Given the description of an element on the screen output the (x, y) to click on. 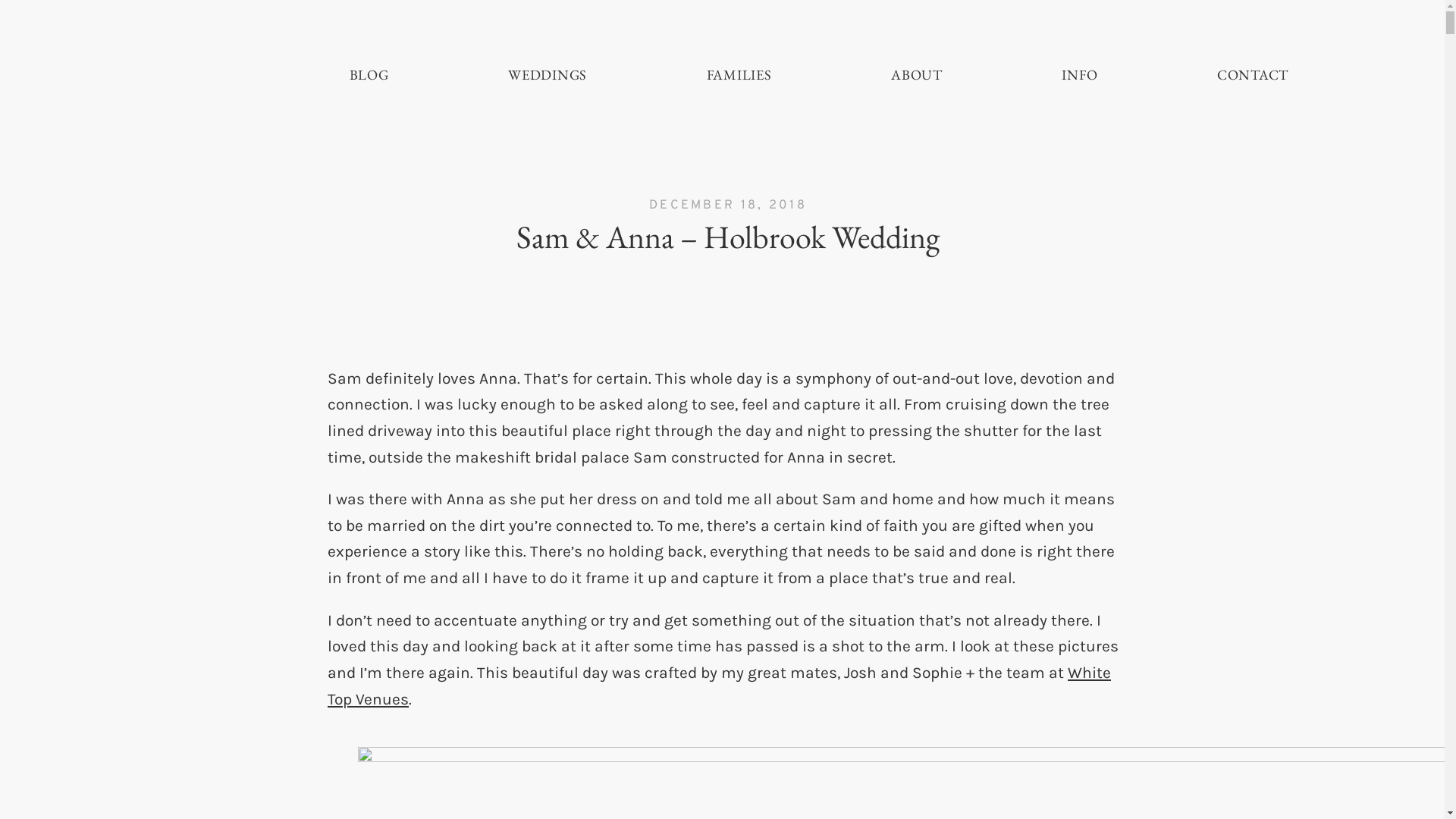
BLOG Element type: text (369, 74)
WEDDINGS Element type: text (547, 74)
White Top Venues Element type: text (718, 685)
CONTACT Element type: text (1252, 74)
INFO Element type: text (1079, 74)
ABOUT Element type: text (916, 74)
FAMILIES Element type: text (738, 74)
